Given the description of an element on the screen output the (x, y) to click on. 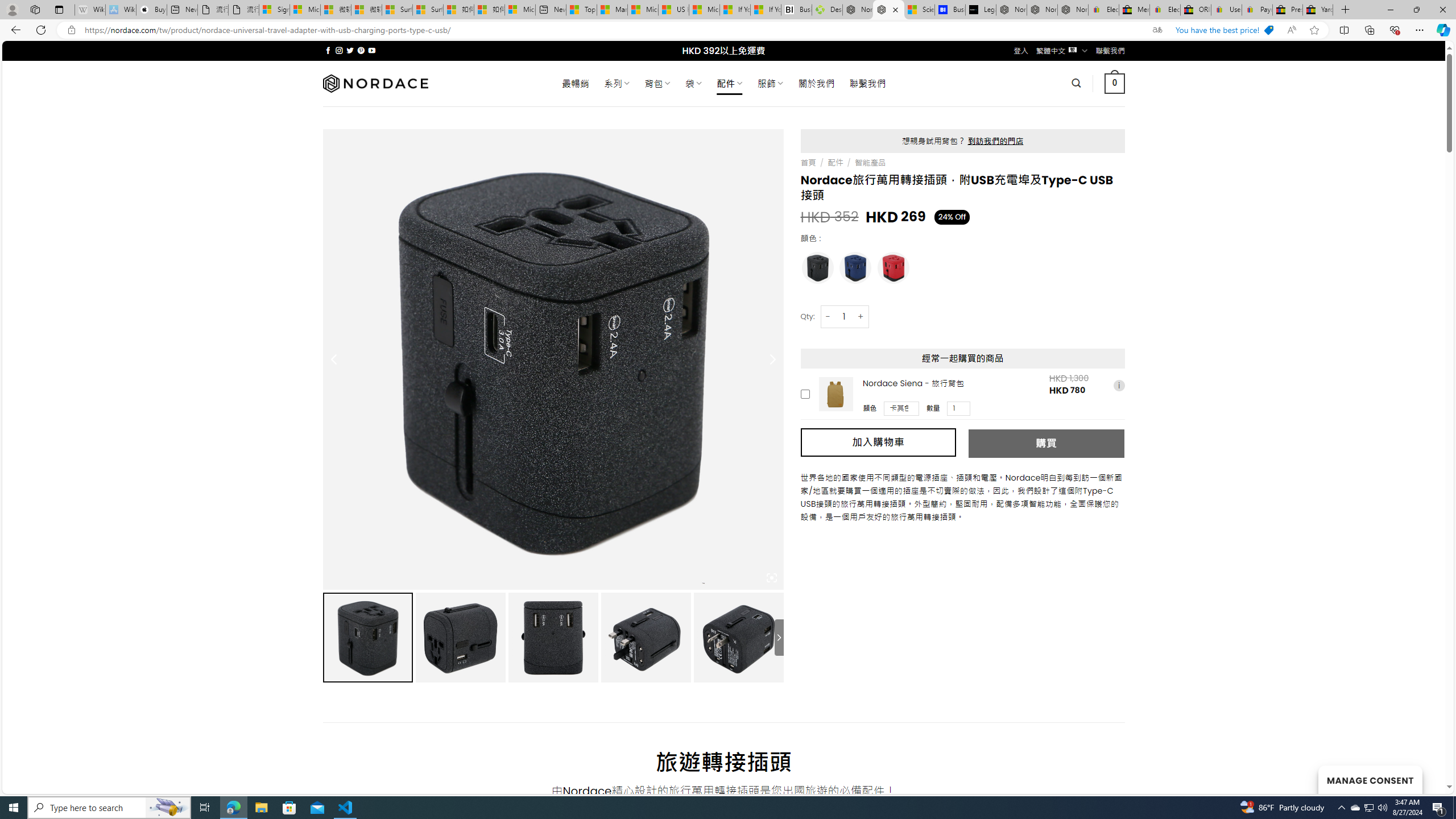
 0  (1115, 83)
